Given the description of an element on the screen output the (x, y) to click on. 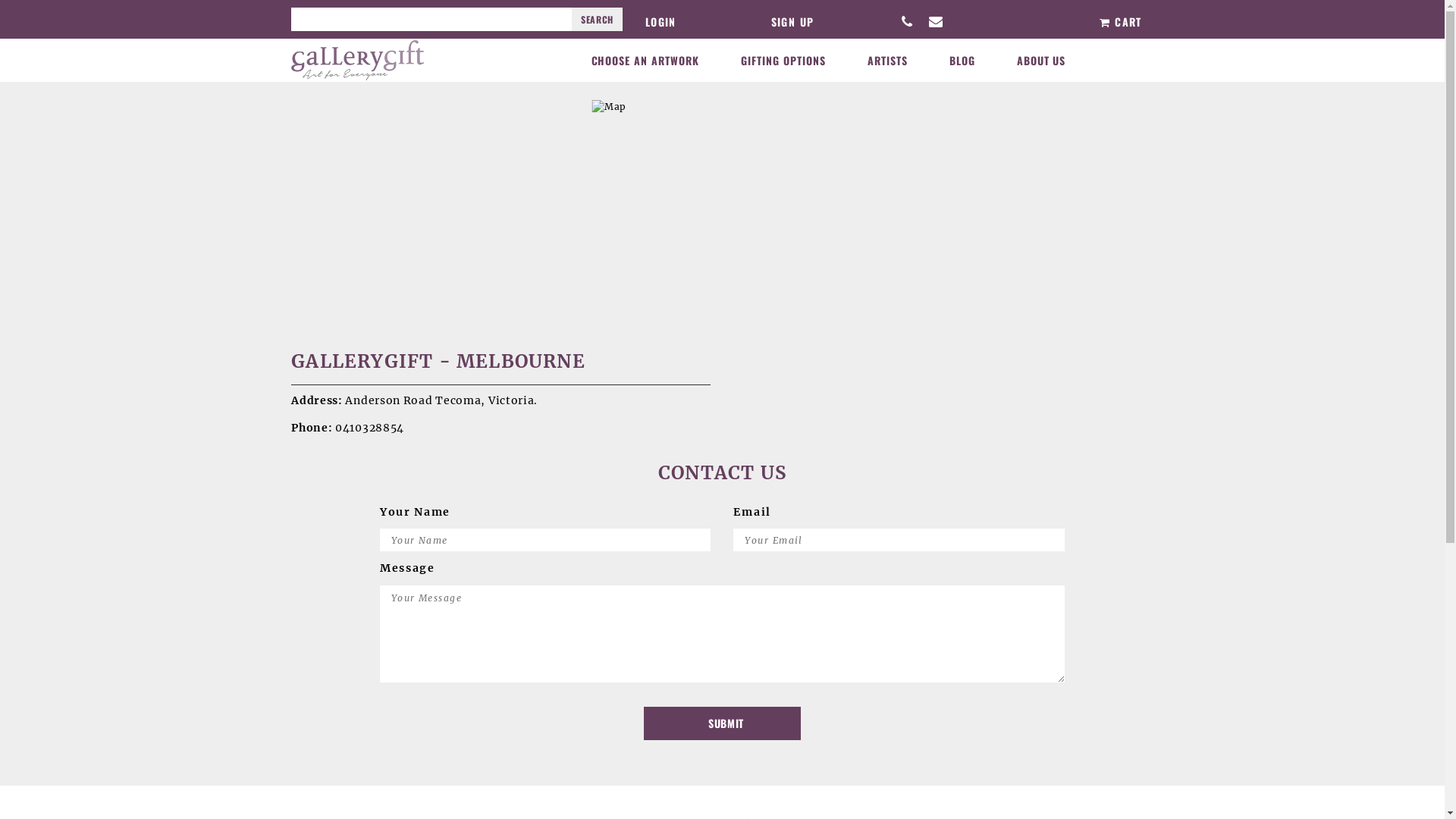
SUBMIT Element type: text (721, 723)
GalleryGift Element type: hover (357, 59)
CHOOSE AN ARTWORK Element type: text (645, 60)
ARTISTS Element type: text (887, 60)
SEARCH Element type: text (596, 19)
CART Element type: text (1125, 21)
BLOG Element type: text (962, 60)
ABOUT US Element type: text (1041, 60)
GIFTING OPTIONS Element type: text (782, 60)
0410328854 Element type: text (369, 427)
LOGIN Element type: text (660, 21)
SIGN UP Element type: text (792, 21)
